Given the description of an element on the screen output the (x, y) to click on. 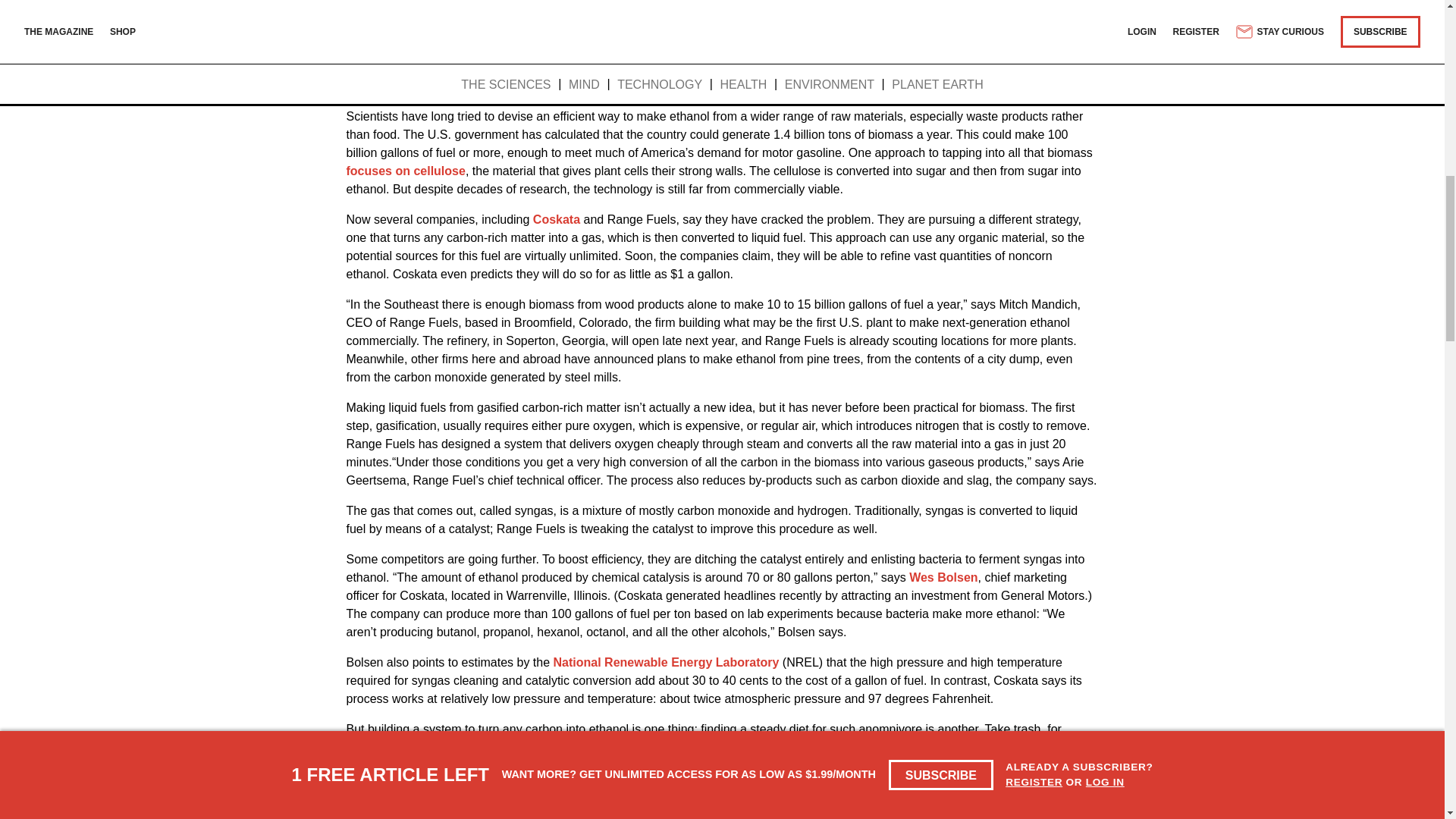
Coskata (555, 219)
National Renewable Energy Laboratory (665, 662)
Biofuels could be a crucial weapon (447, 12)
Wes Bolsen (942, 576)
focuses on cellulose (405, 170)
made from corn, using an energy-intensive process (725, 67)
feed mostly on wood chips (755, 765)
